Given the description of an element on the screen output the (x, y) to click on. 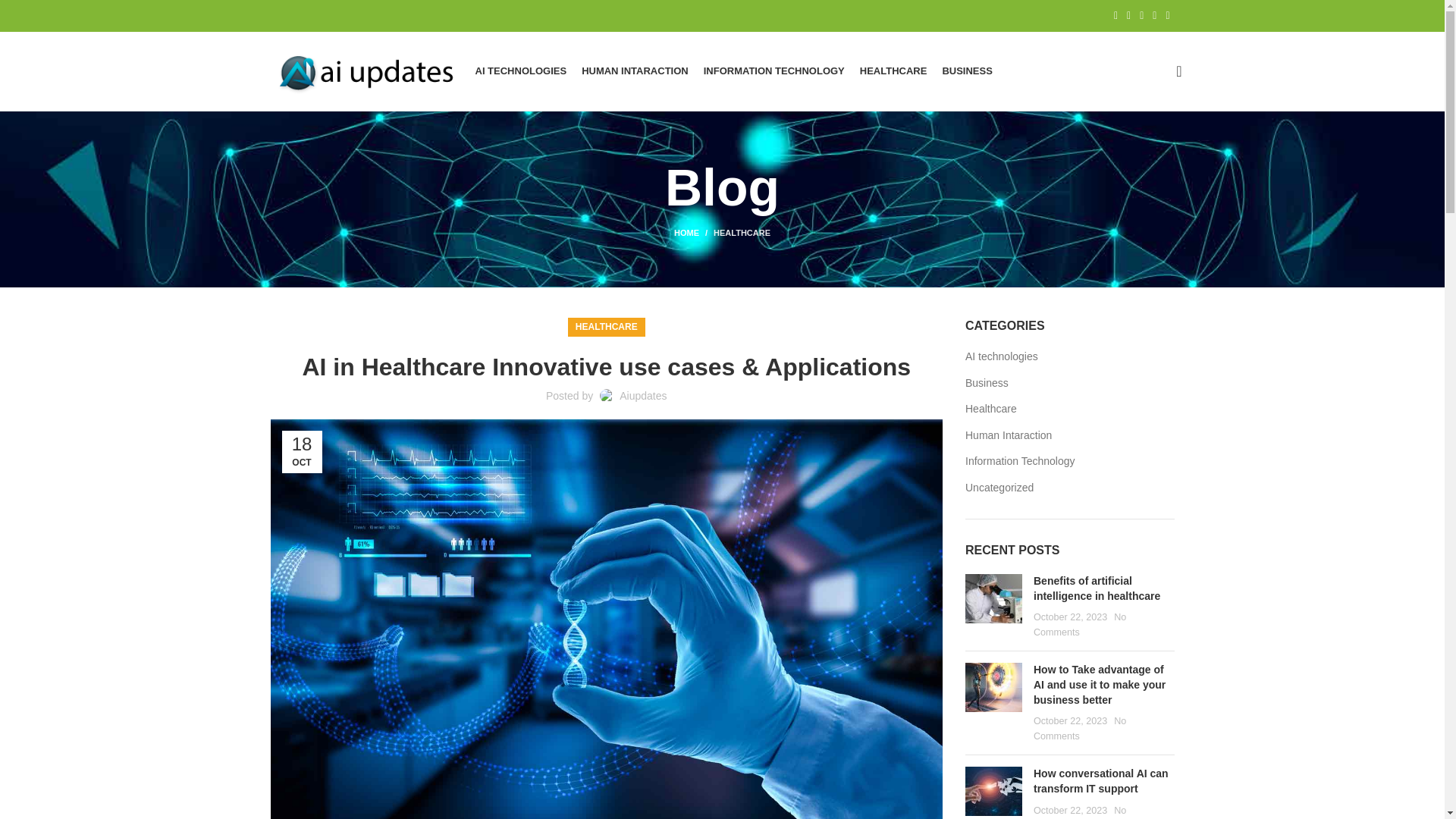
Information Technology (1021, 461)
Benefits of artificial intelligence in healthcare (1096, 587)
Business (987, 383)
AI technologies (1002, 356)
HEALTHCARE (741, 232)
HEALTHCARE (606, 326)
Uncategorized (1000, 488)
How-conversational-AI-can-transform-IT-support (993, 790)
AI TECHNOLOGIES (520, 71)
